Given the description of an element on the screen output the (x, y) to click on. 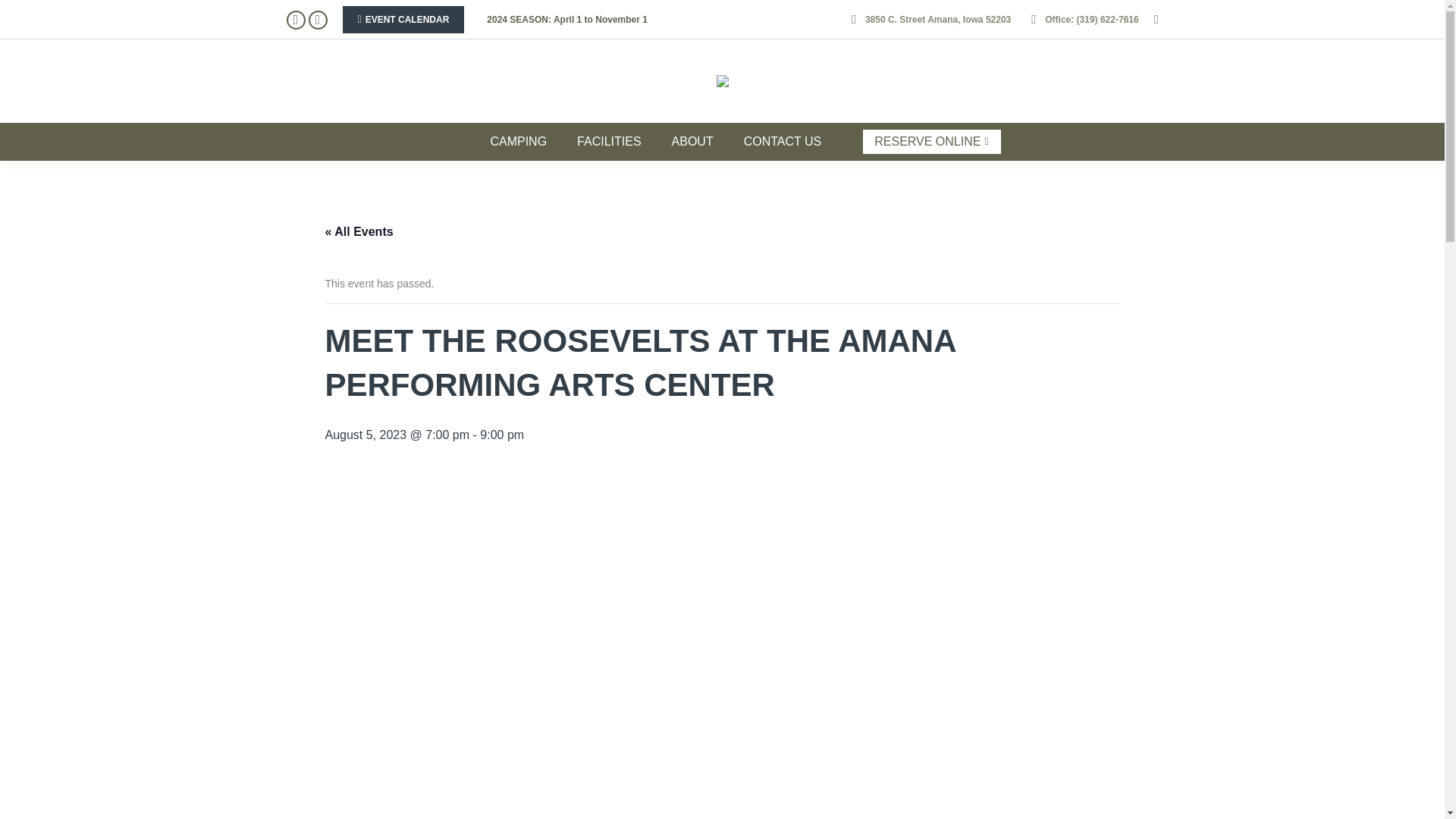
Website page opens in new window (316, 19)
ABOUT (693, 142)
Website page opens in new window (316, 19)
RESERVE ONLINE (931, 141)
Go! (24, 13)
CONTACT US (782, 142)
Facebook page opens in new window (295, 19)
EVENT CALENDAR (403, 19)
FACILITIES (609, 142)
Facebook page opens in new window (295, 19)
